Given the description of an element on the screen output the (x, y) to click on. 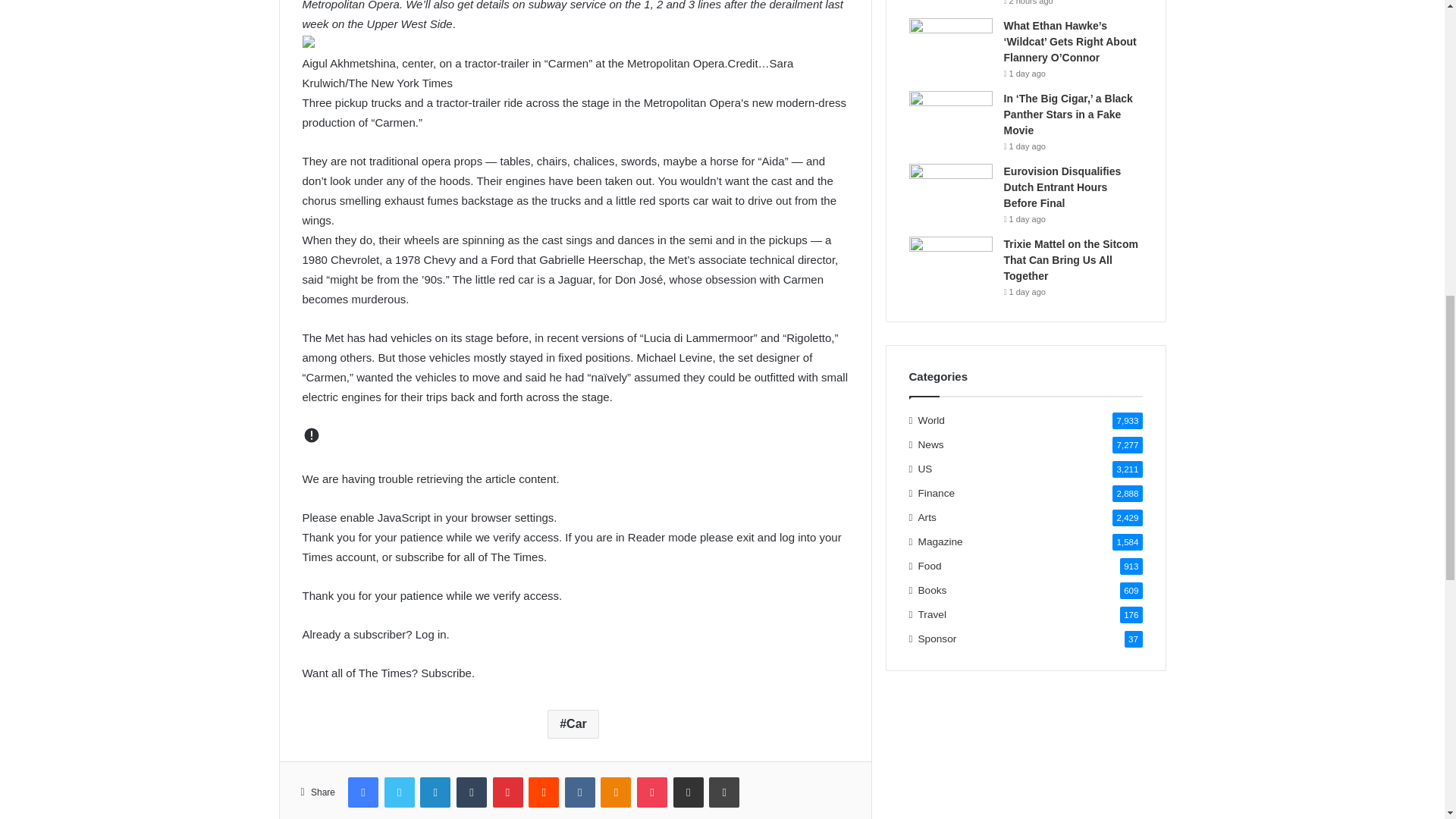
Car (572, 724)
